Given the description of an element on the screen output the (x, y) to click on. 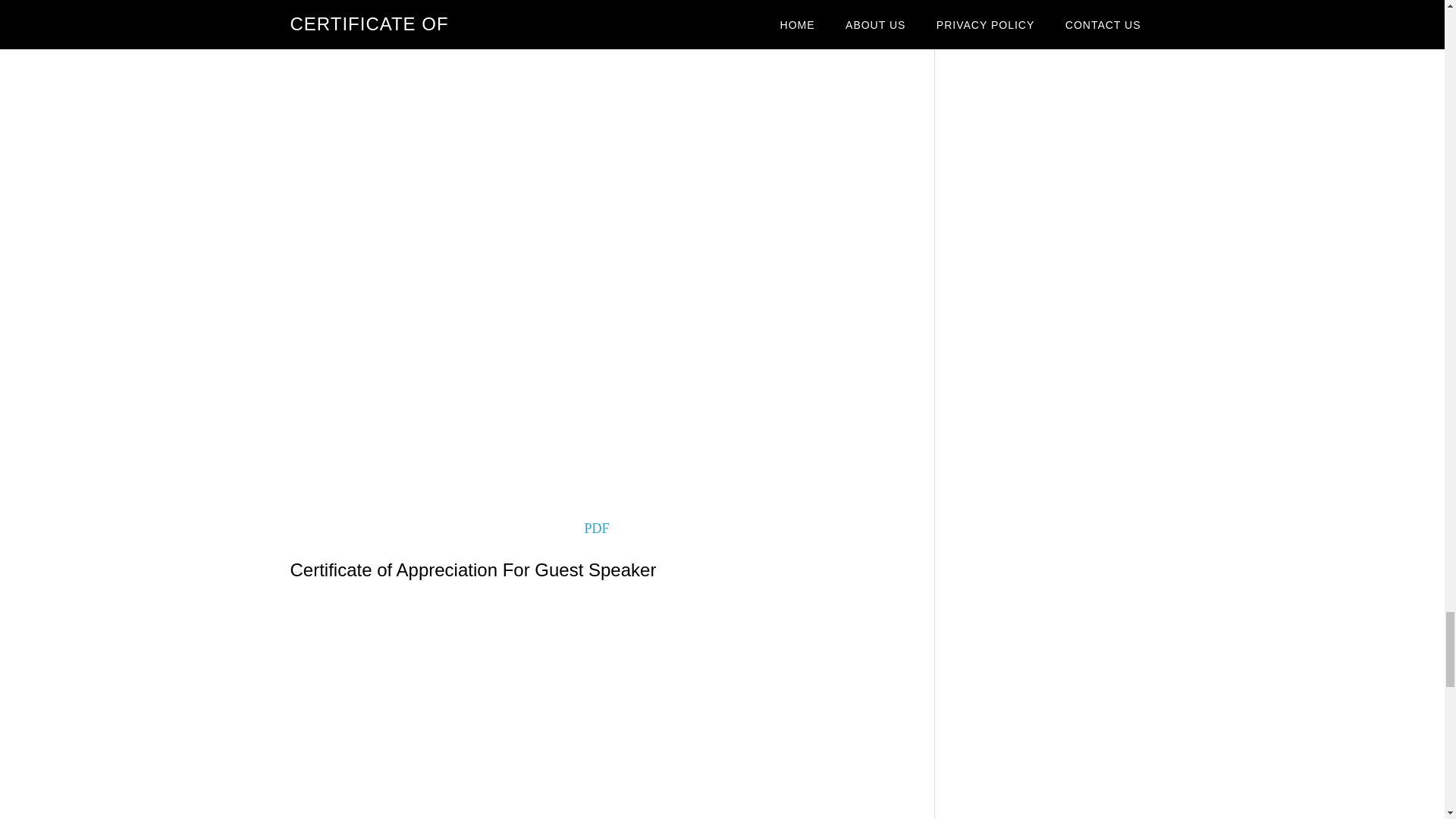
PDF (595, 528)
